Given the description of an element on the screen output the (x, y) to click on. 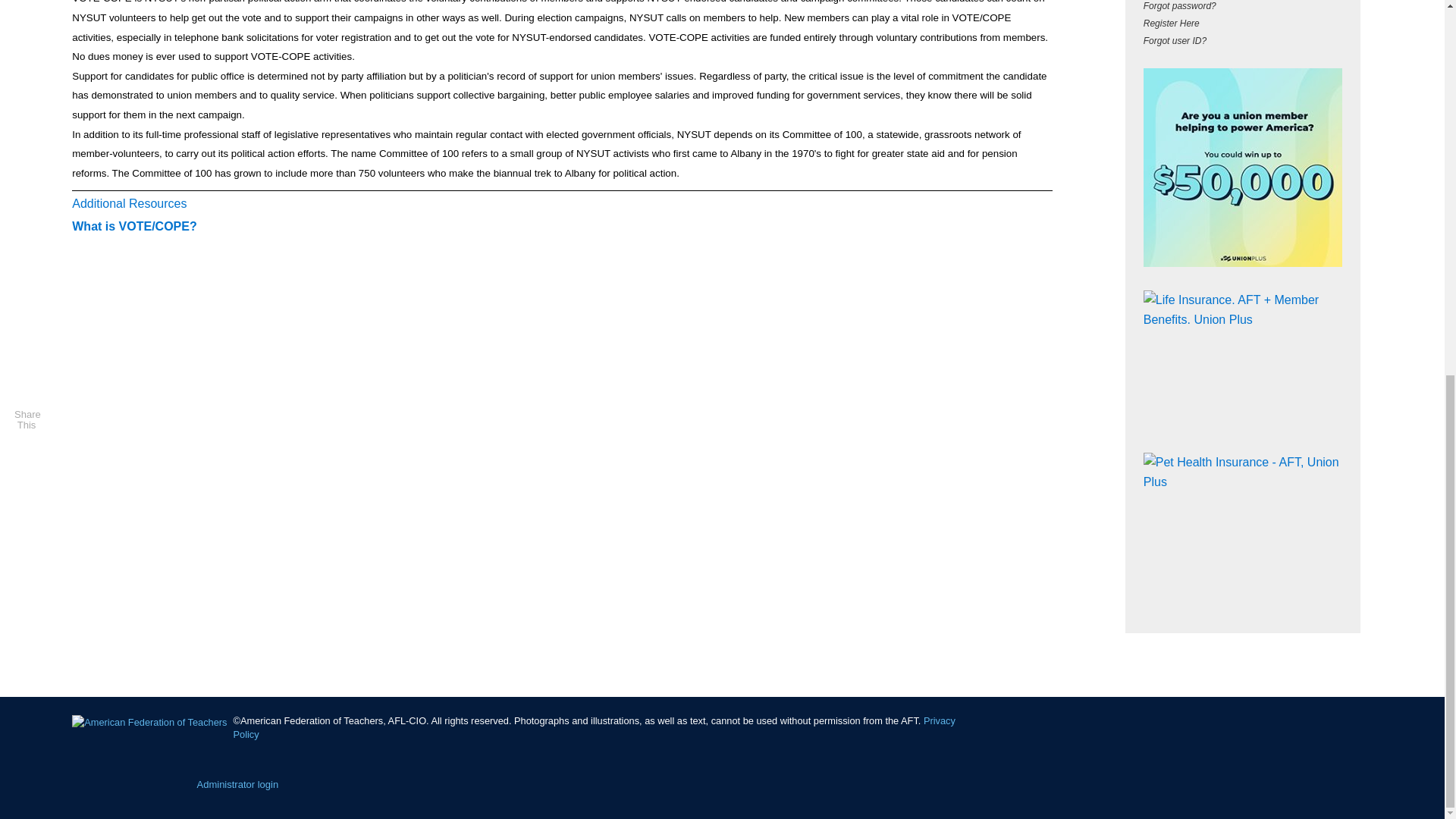
Privacy Policy (593, 727)
Forgot password? (1178, 5)
Administrator login (237, 784)
Register Here (1170, 23)
Forgot Your User ID. (1174, 40)
Forgot user ID? (1174, 40)
